Given the description of an element on the screen output the (x, y) to click on. 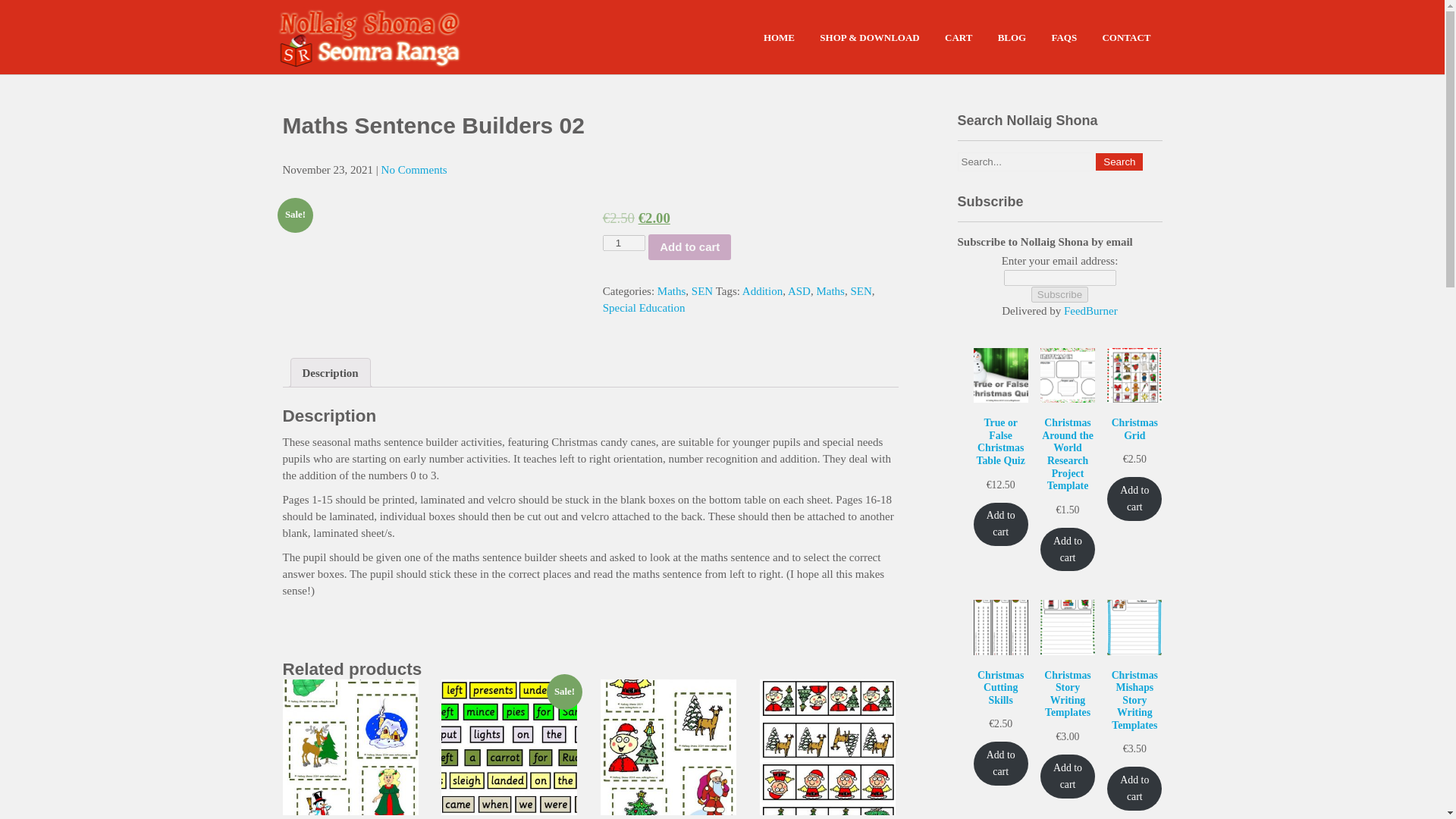
Special Education (643, 307)
Qty (623, 242)
Subscribe (1058, 294)
CONTACT (1125, 37)
Addition (762, 291)
CART (958, 37)
Search (1119, 161)
Maths (829, 291)
Search (1119, 161)
1 (623, 242)
